Given the description of an element on the screen output the (x, y) to click on. 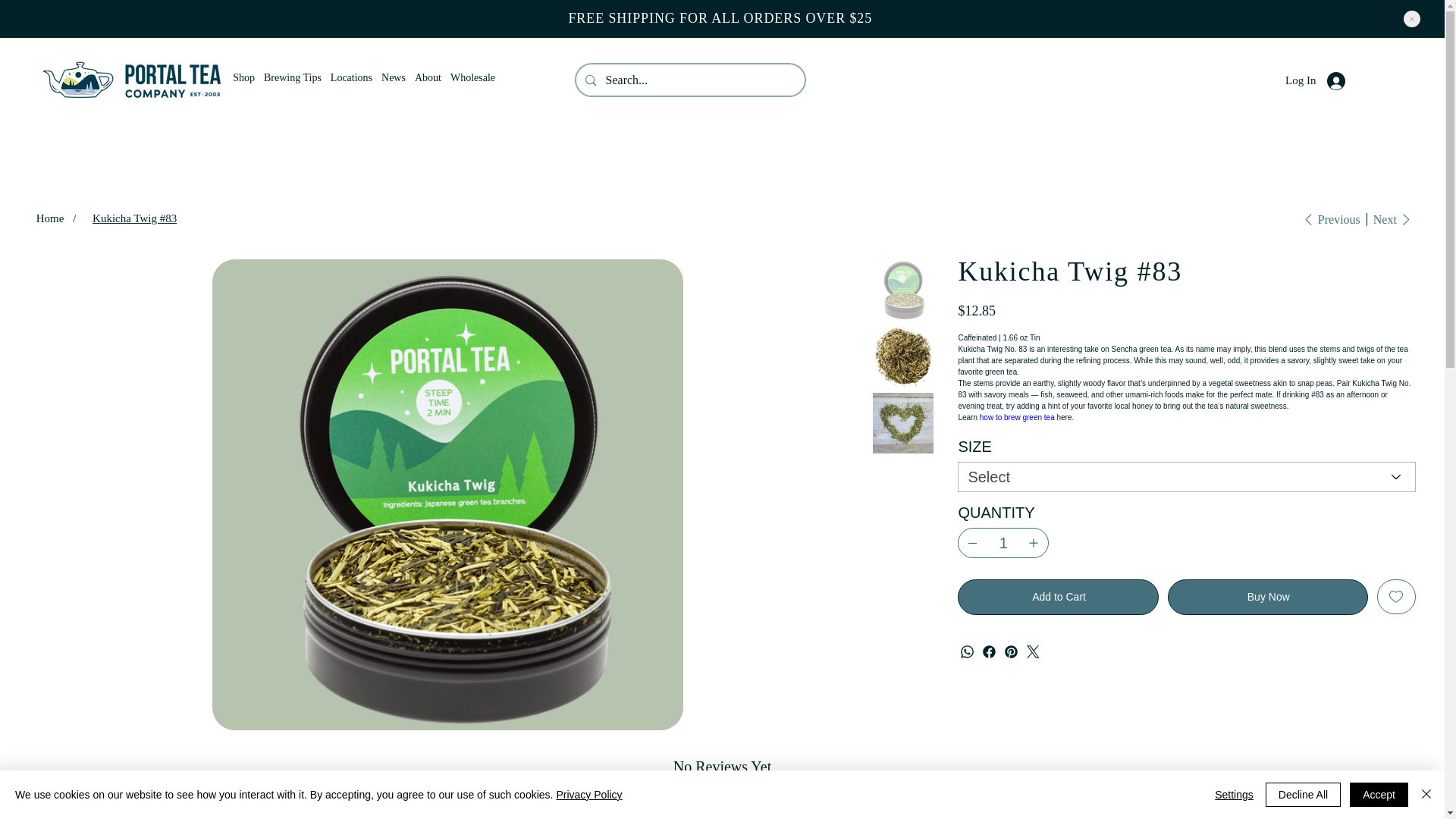
1 (1003, 542)
Brewing Tips (292, 77)
Locations (350, 77)
